Given the description of an element on the screen output the (x, y) to click on. 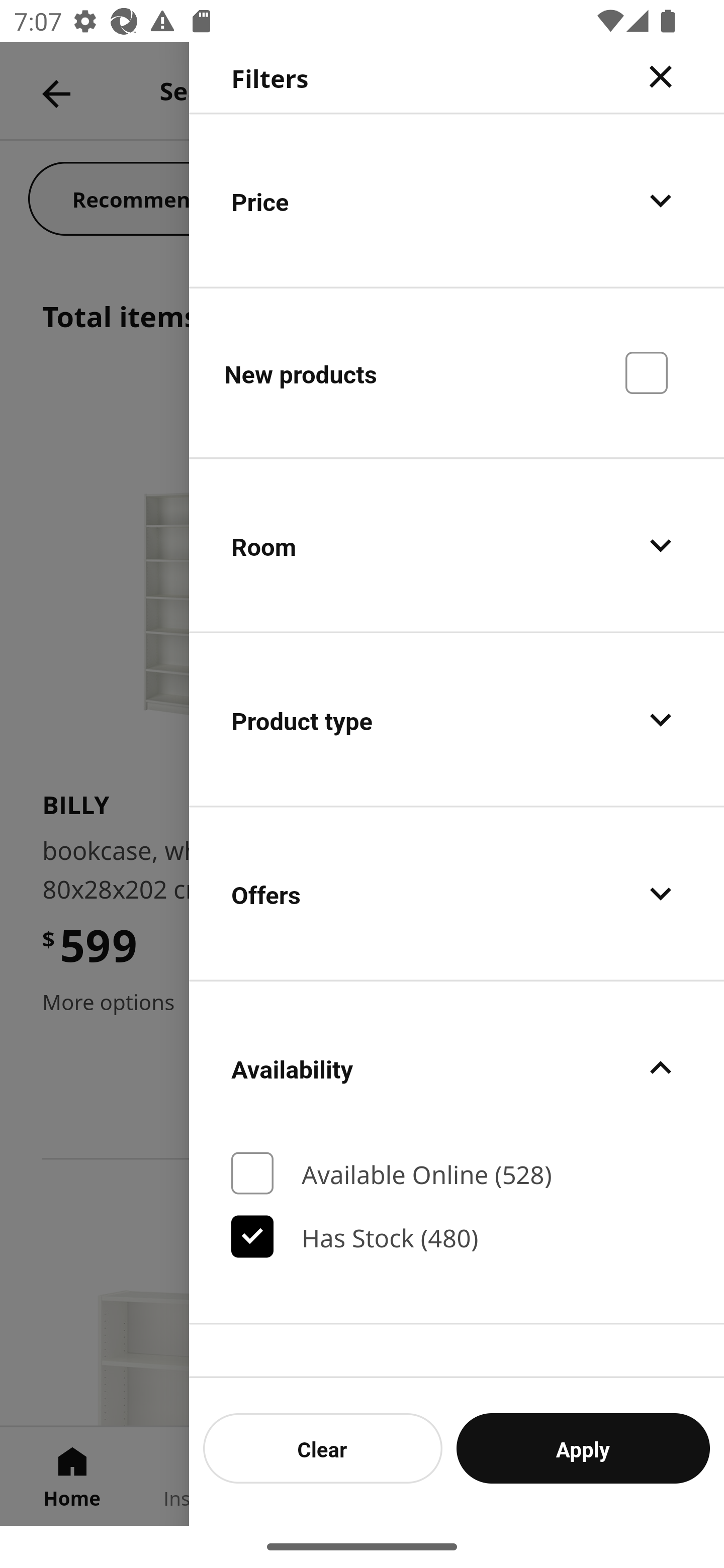
Price (456, 200)
New products (456, 371)
Room (456, 545)
Product type (456, 719)
Offers (456, 893)
Availability (456, 1067)
Available Online (528) (456, 1173)
Has Stock (480) (456, 1236)
Clear (322, 1447)
Apply (583, 1447)
